Given the description of an element on the screen output the (x, y) to click on. 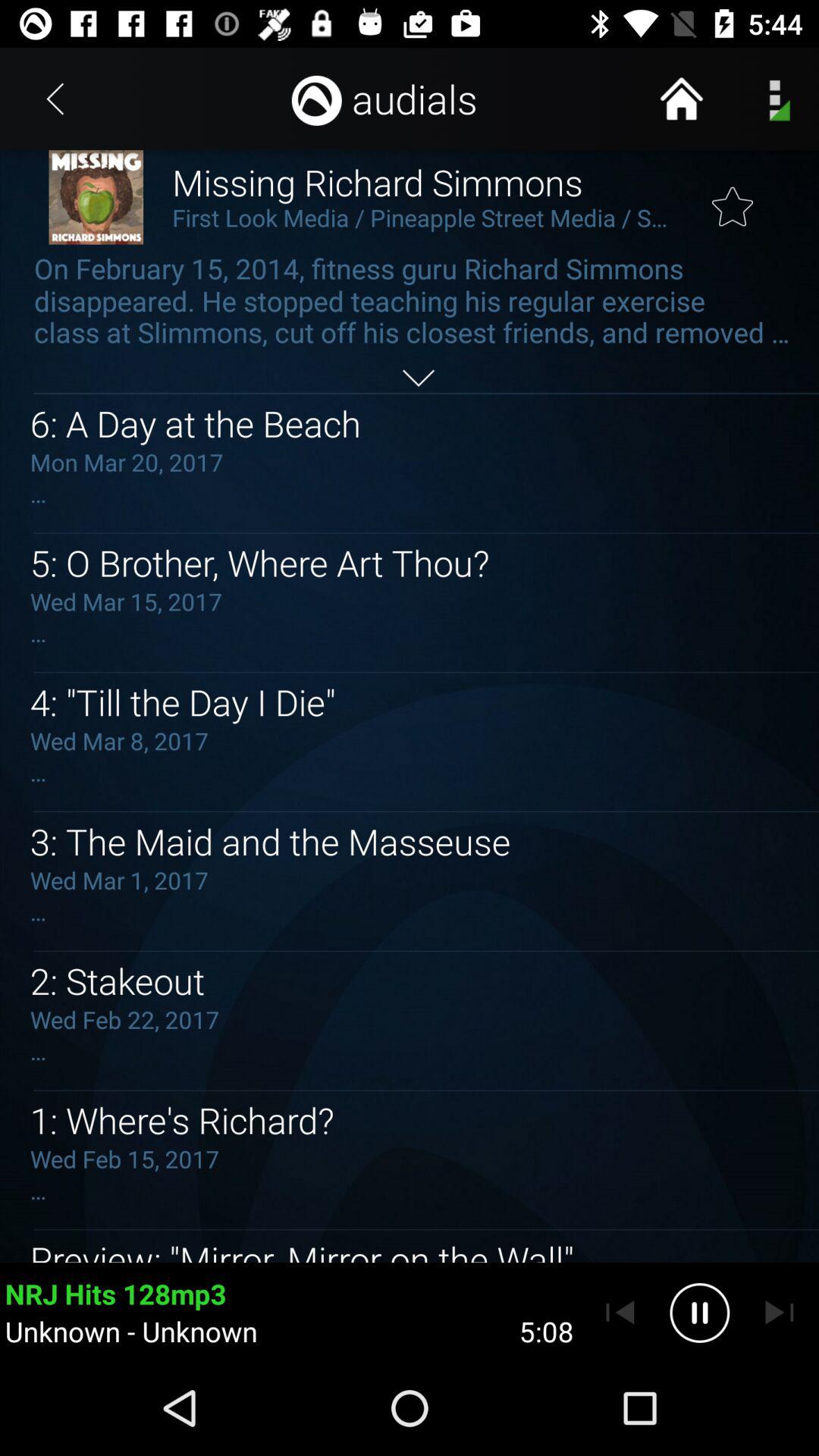
click the item above 6 a day item (418, 378)
